Given the description of an element on the screen output the (x, y) to click on. 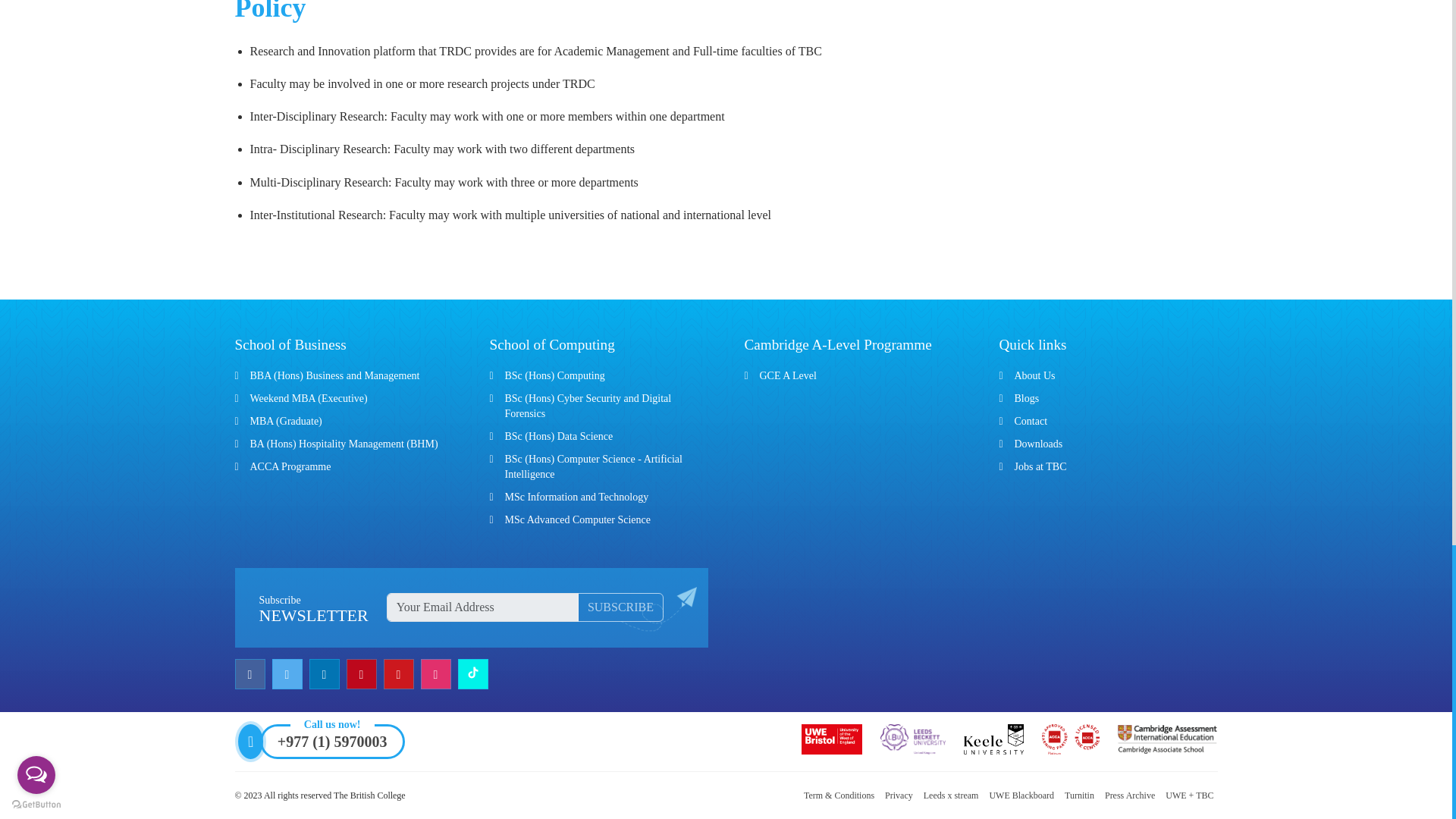
Jobs at TBC (1040, 466)
Youtube (400, 674)
Contact (1031, 420)
GCE A Level (788, 375)
MSc Information and Technology (577, 496)
Twitter (287, 674)
MSc Advanced Computer Science (577, 519)
Tiktok (475, 674)
Downloads (1038, 443)
Instagram (437, 674)
